Given the description of an element on the screen output the (x, y) to click on. 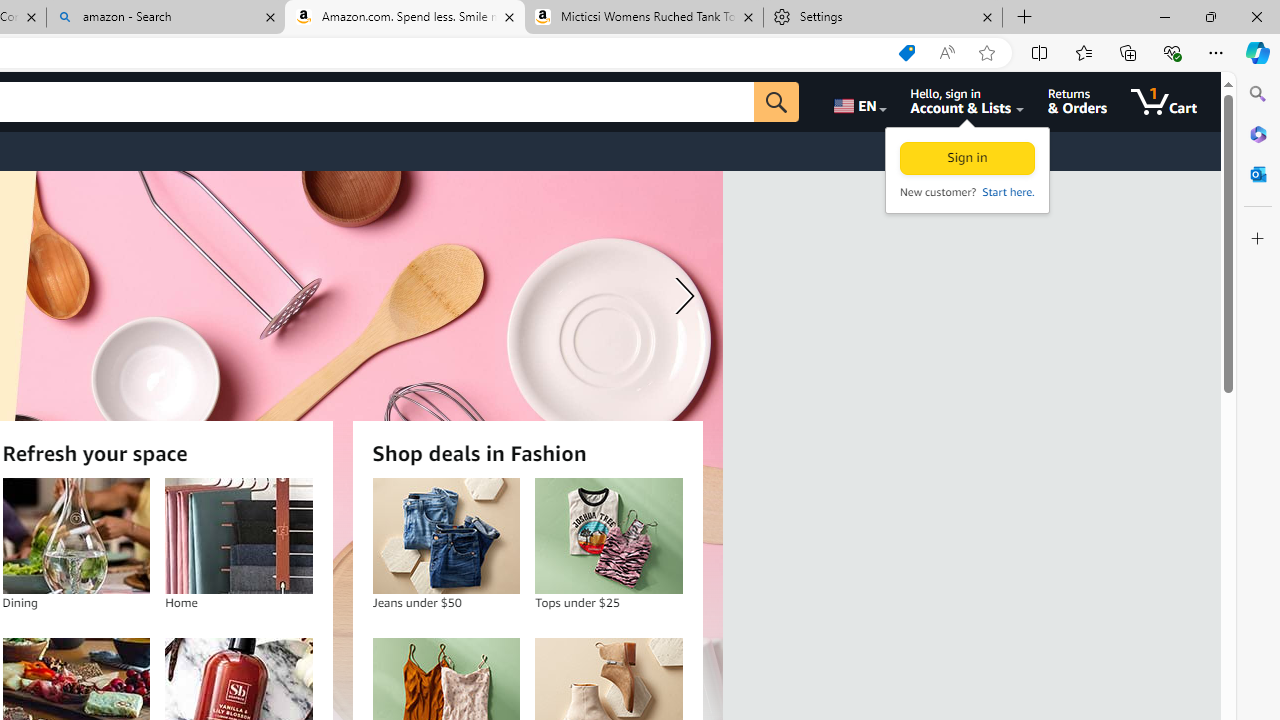
Close (1256, 16)
Tops under $25 (609, 536)
Restore (1210, 16)
Outlook (1258, 174)
Minimize (1164, 16)
Jeans under $50 (445, 536)
Dining (75, 536)
